Given the description of an element on the screen output the (x, y) to click on. 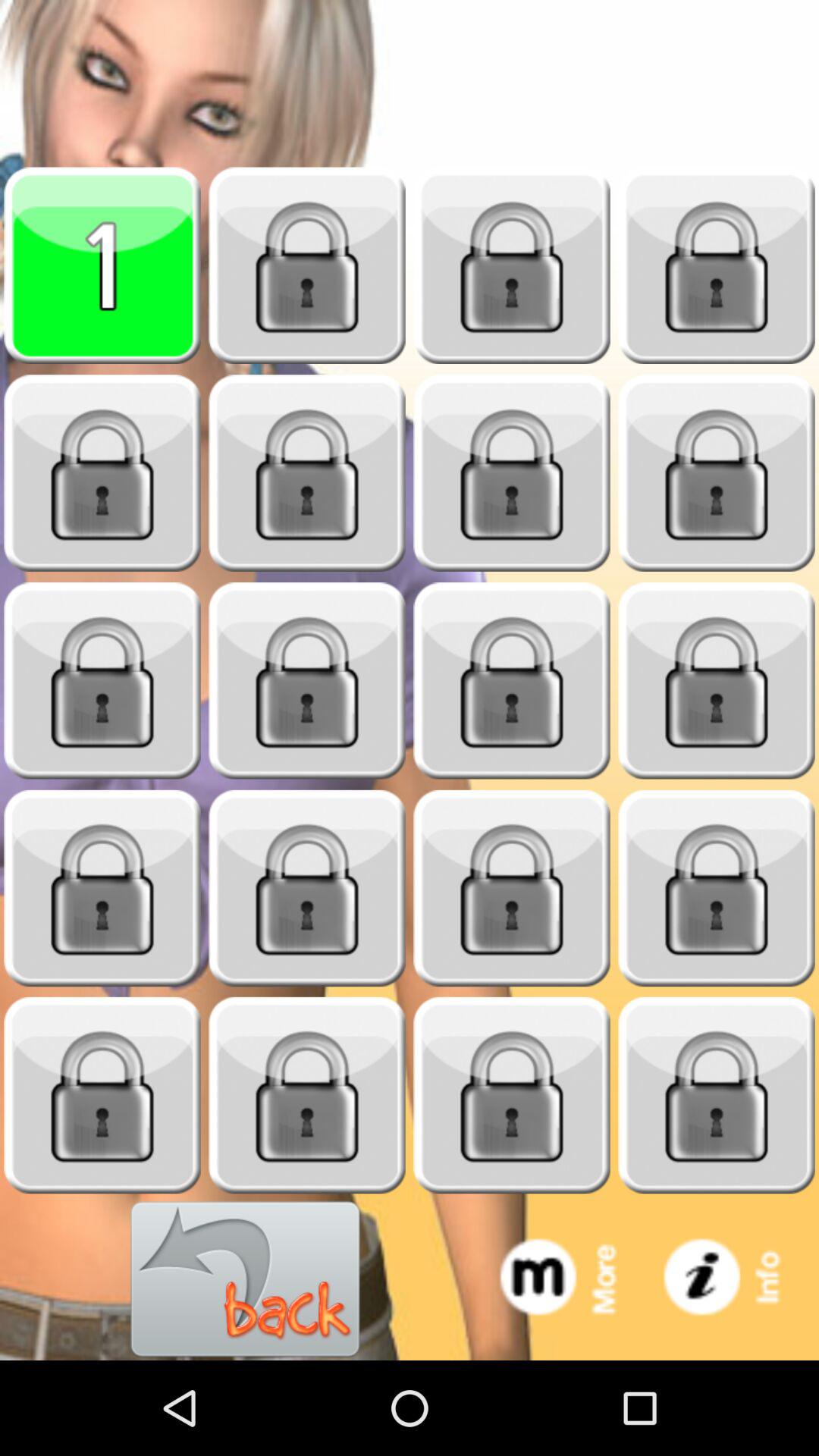
lock (511, 265)
